Given the description of an element on the screen output the (x, y) to click on. 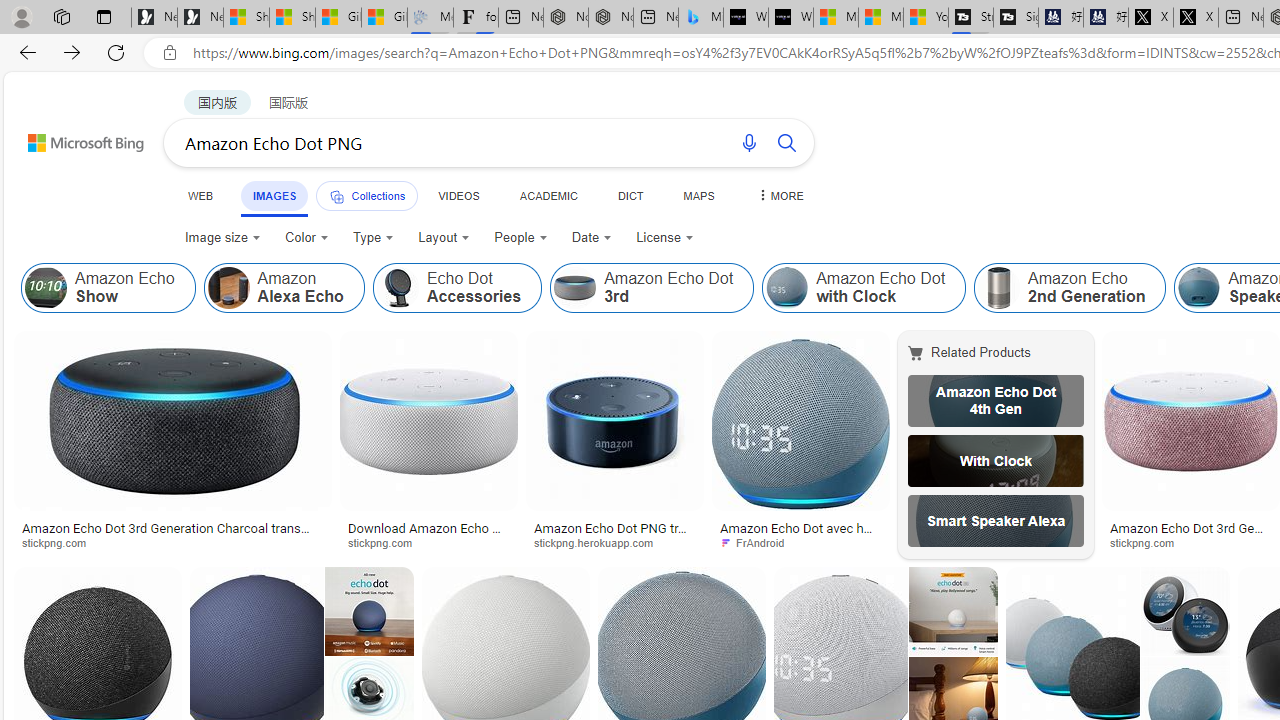
VIDEOS (458, 195)
WEB (201, 195)
Image result for Amazon Echo Dot PNG (1185, 611)
People (521, 237)
MAPS (698, 195)
stickpng.herokuapp.com (614, 542)
Color (305, 237)
Dropdown Menu (779, 195)
ACADEMIC (548, 195)
Amazon Echo 2nd Generation (999, 287)
